Given the description of an element on the screen output the (x, y) to click on. 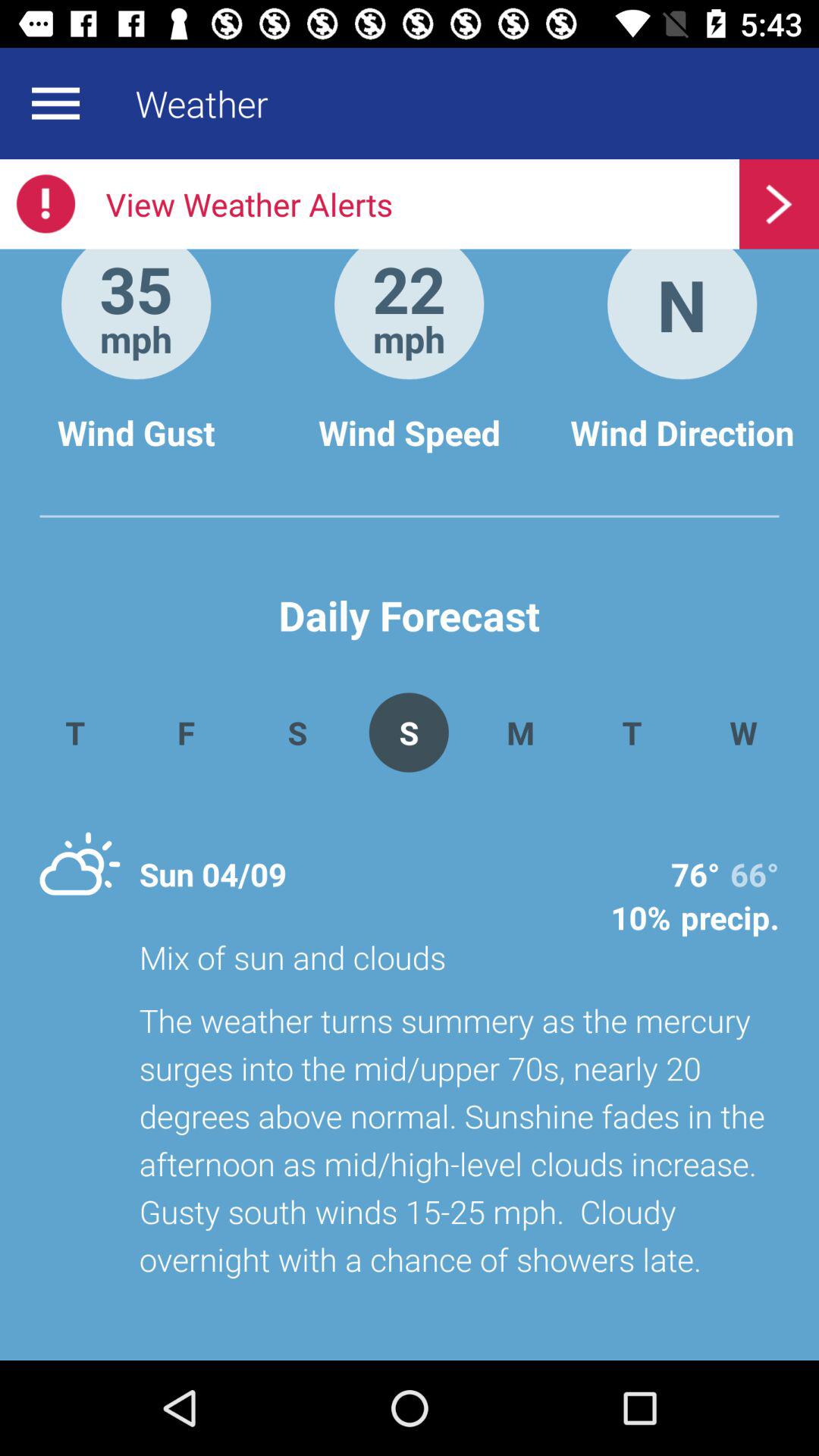
expand menu options (55, 103)
